Given the description of an element on the screen output the (x, y) to click on. 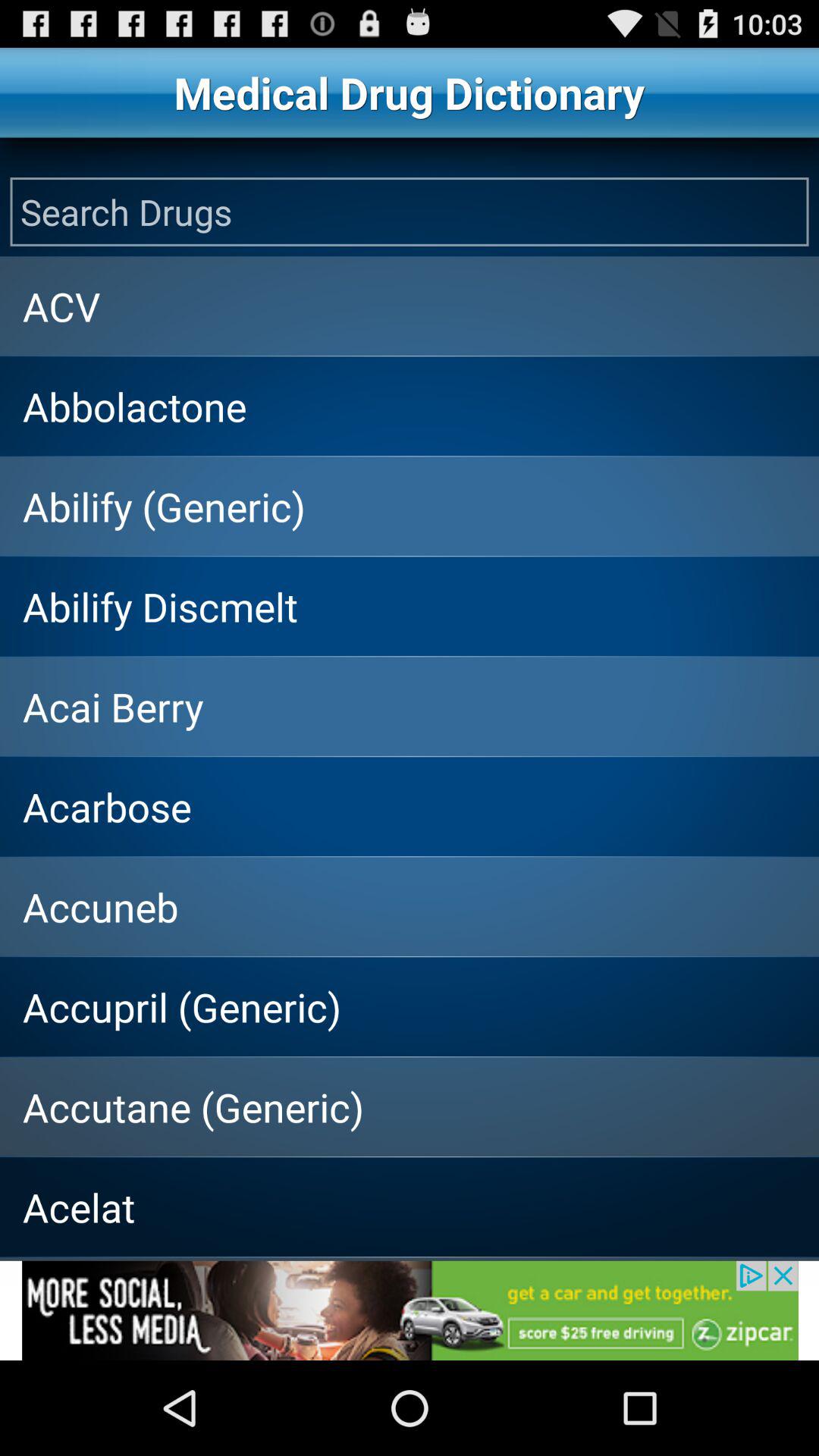
open the search field (409, 211)
